Given the description of an element on the screen output the (x, y) to click on. 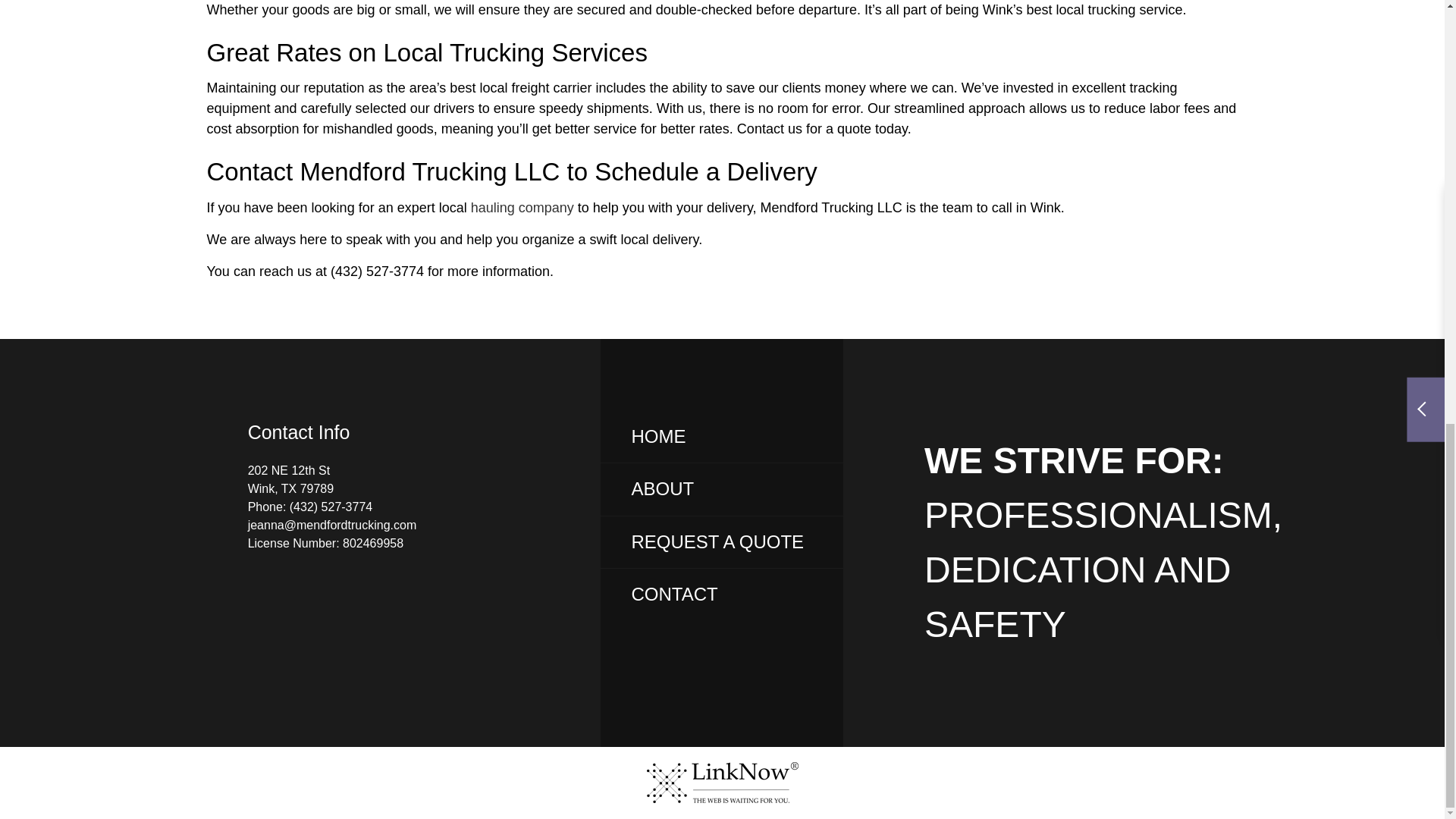
Learn more about us (662, 488)
Return to Home (657, 435)
Get in touch with us (673, 593)
Request a detailed quote (716, 541)
Learn more about trucking services (521, 207)
